Given the description of an element on the screen output the (x, y) to click on. 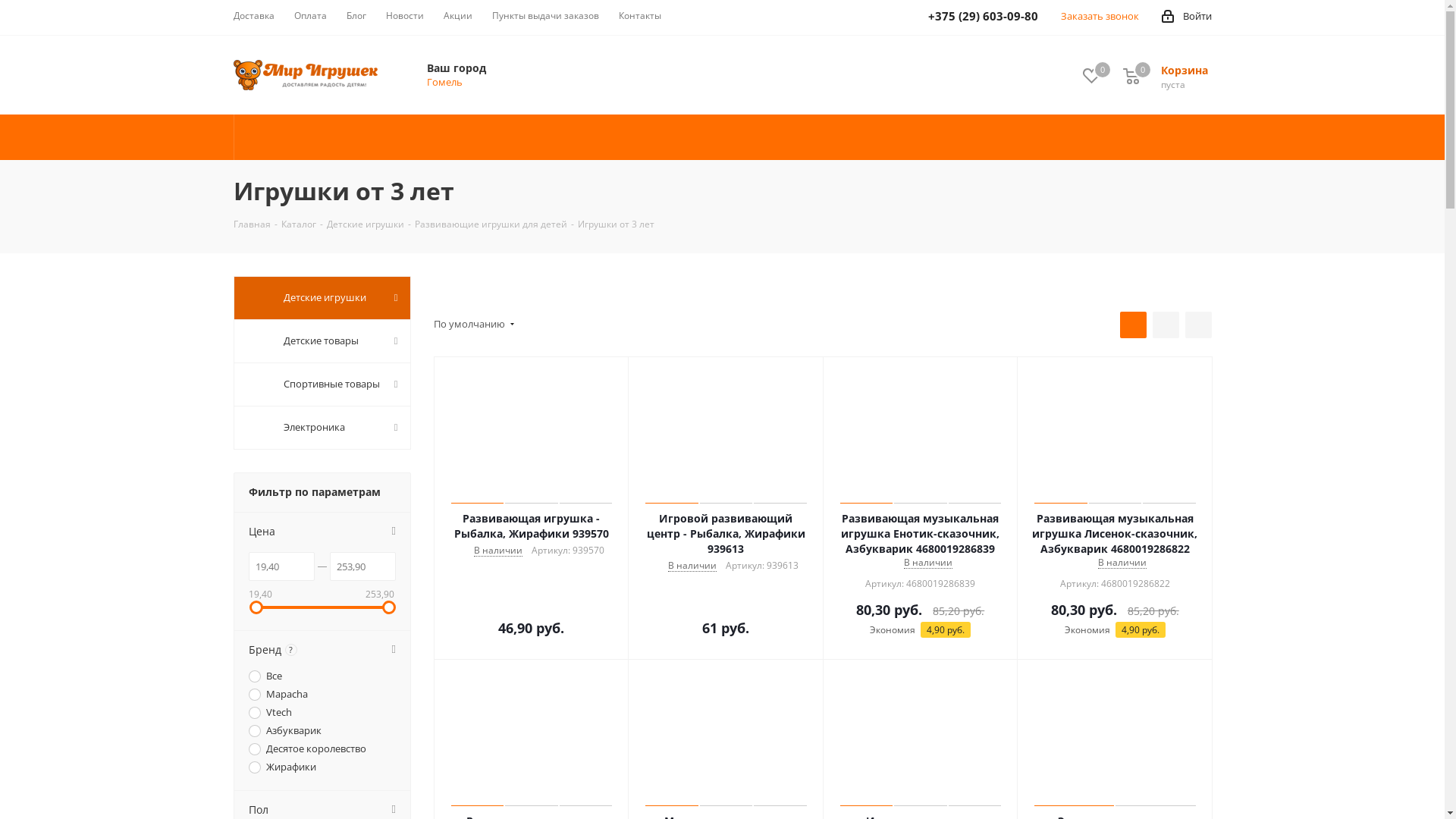
2494504099 Element type: text (4, 4)
